Given the description of an element on the screen output the (x, y) to click on. 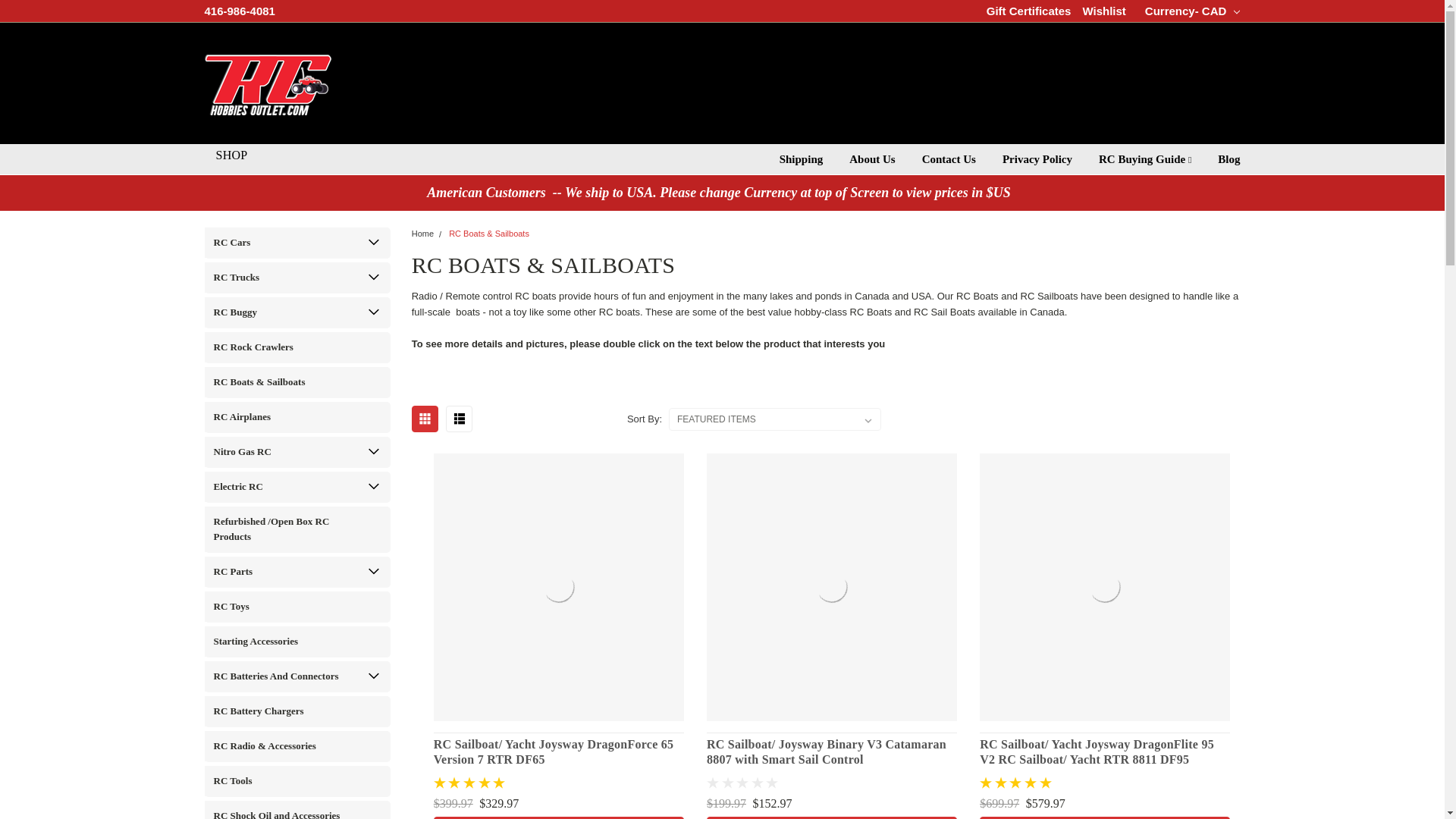
Wishlist (1103, 10)
Gift Certificates (1029, 10)
Currency- CAD (1188, 11)
DragonFlite 95  (1105, 587)
416-986-4081 (240, 10)
rchobbiesoutlet (268, 83)
